Given the description of an element on the screen output the (x, y) to click on. 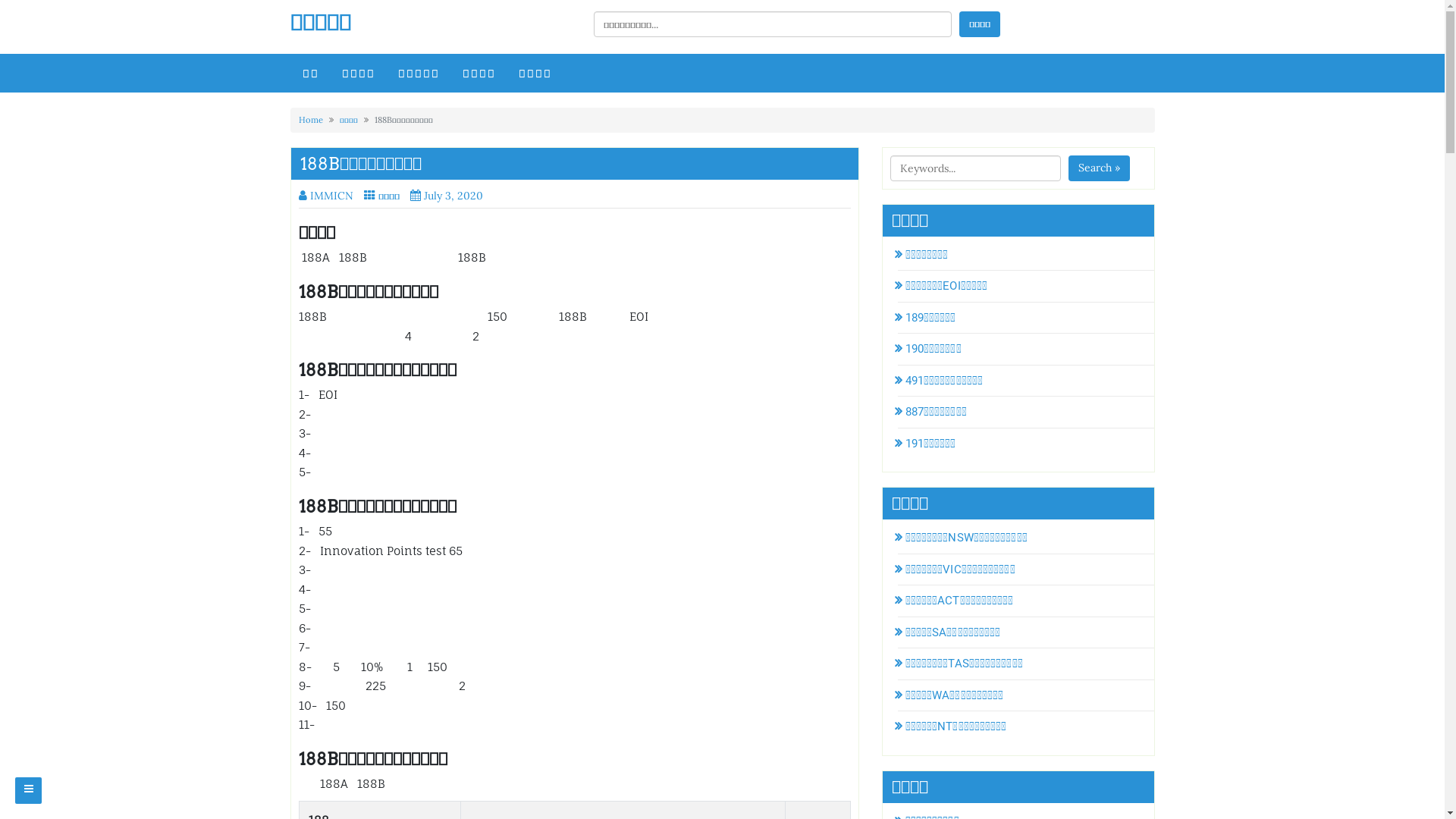
Home Element type: text (310, 119)
July 3, 2020 Element type: text (449, 195)
IMMICN Element type: text (325, 195)
